Given the description of an element on the screen output the (x, y) to click on. 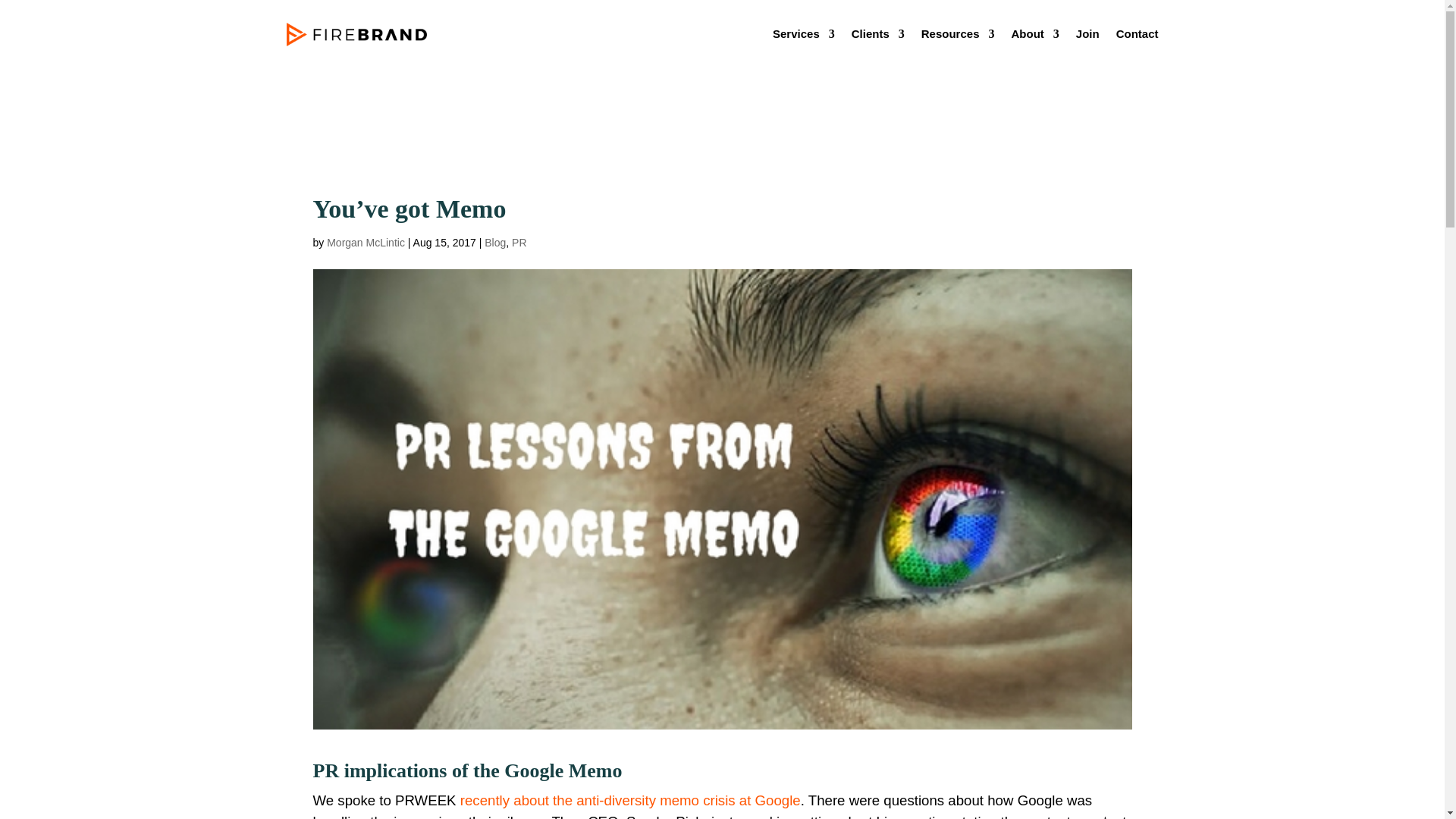
Join (1087, 36)
Contact (1137, 36)
About (1034, 36)
recently about the anti-diversity memo crisis at Google (628, 800)
Blog (494, 242)
Clients (877, 36)
Resources (957, 36)
Services (803, 36)
PR (518, 242)
Morgan McLintic (365, 242)
